Given the description of an element on the screen output the (x, y) to click on. 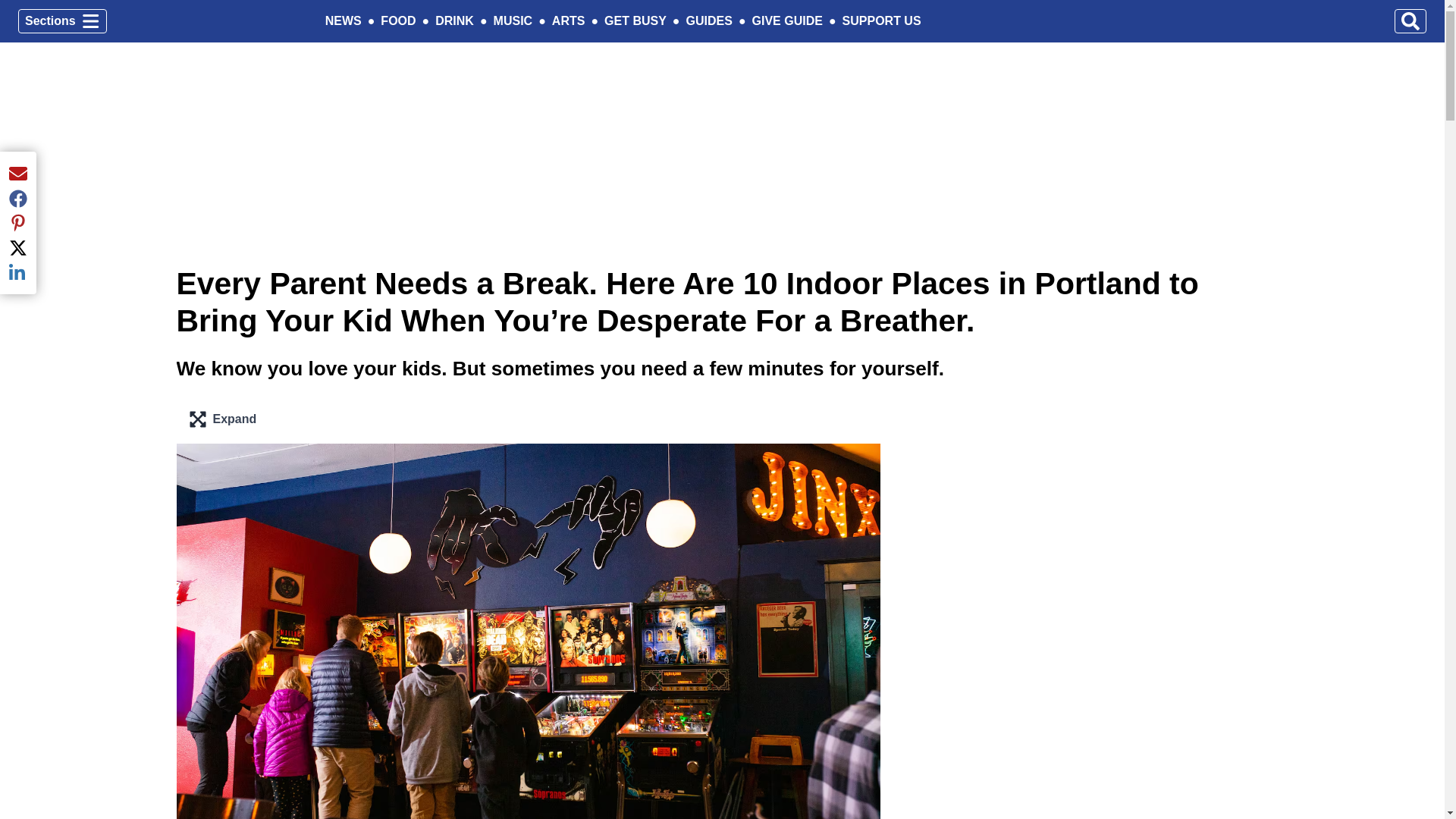
MUSIC (512, 21)
NEWS (342, 21)
GUIDES (708, 21)
GET BUSY (635, 21)
Sections (61, 21)
DRINK (454, 21)
FOOD (882, 21)
ARTS (397, 21)
Expand (568, 21)
